Given the description of an element on the screen output the (x, y) to click on. 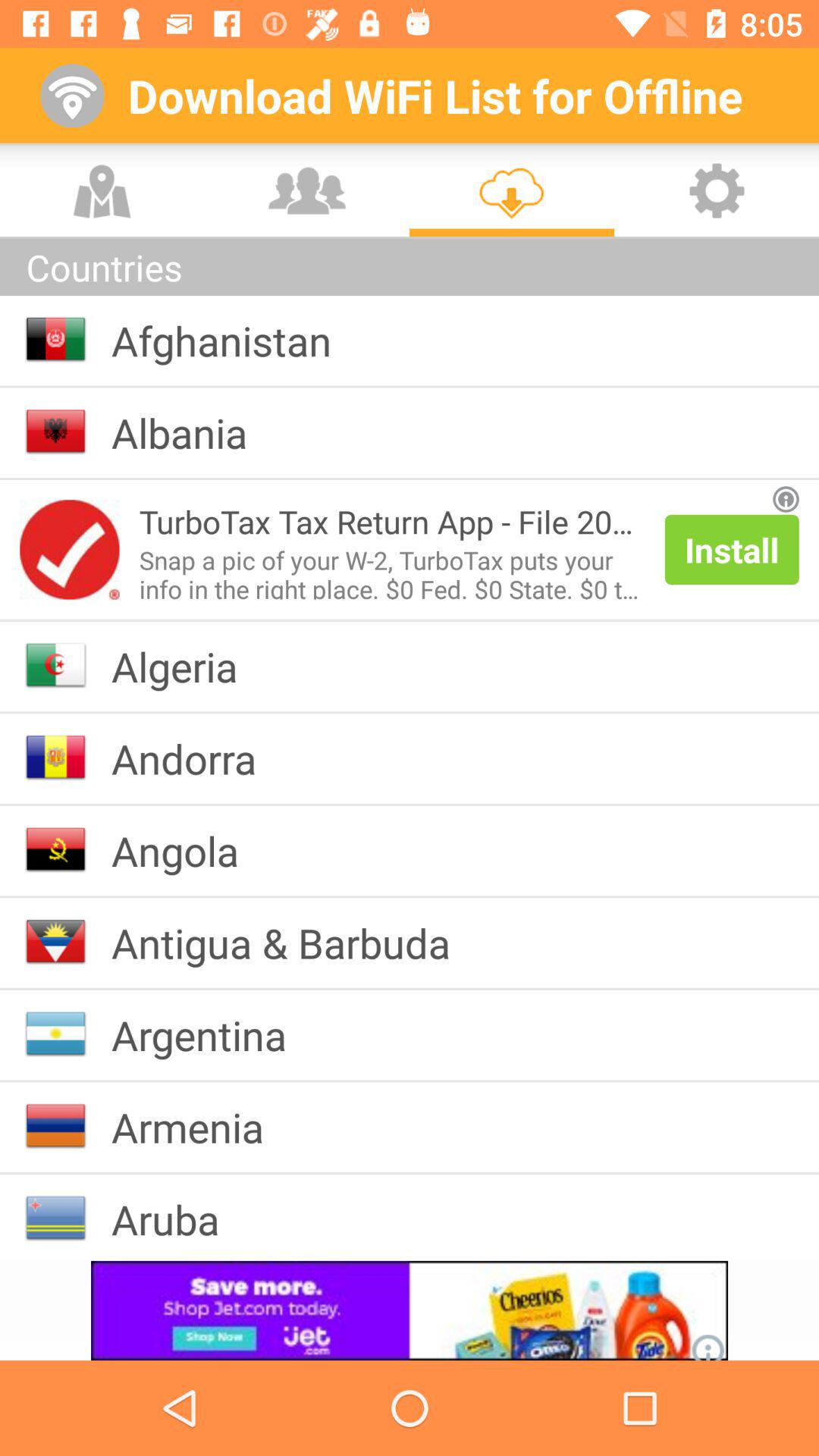
open advertisement (69, 549)
